Given the description of an element on the screen output the (x, y) to click on. 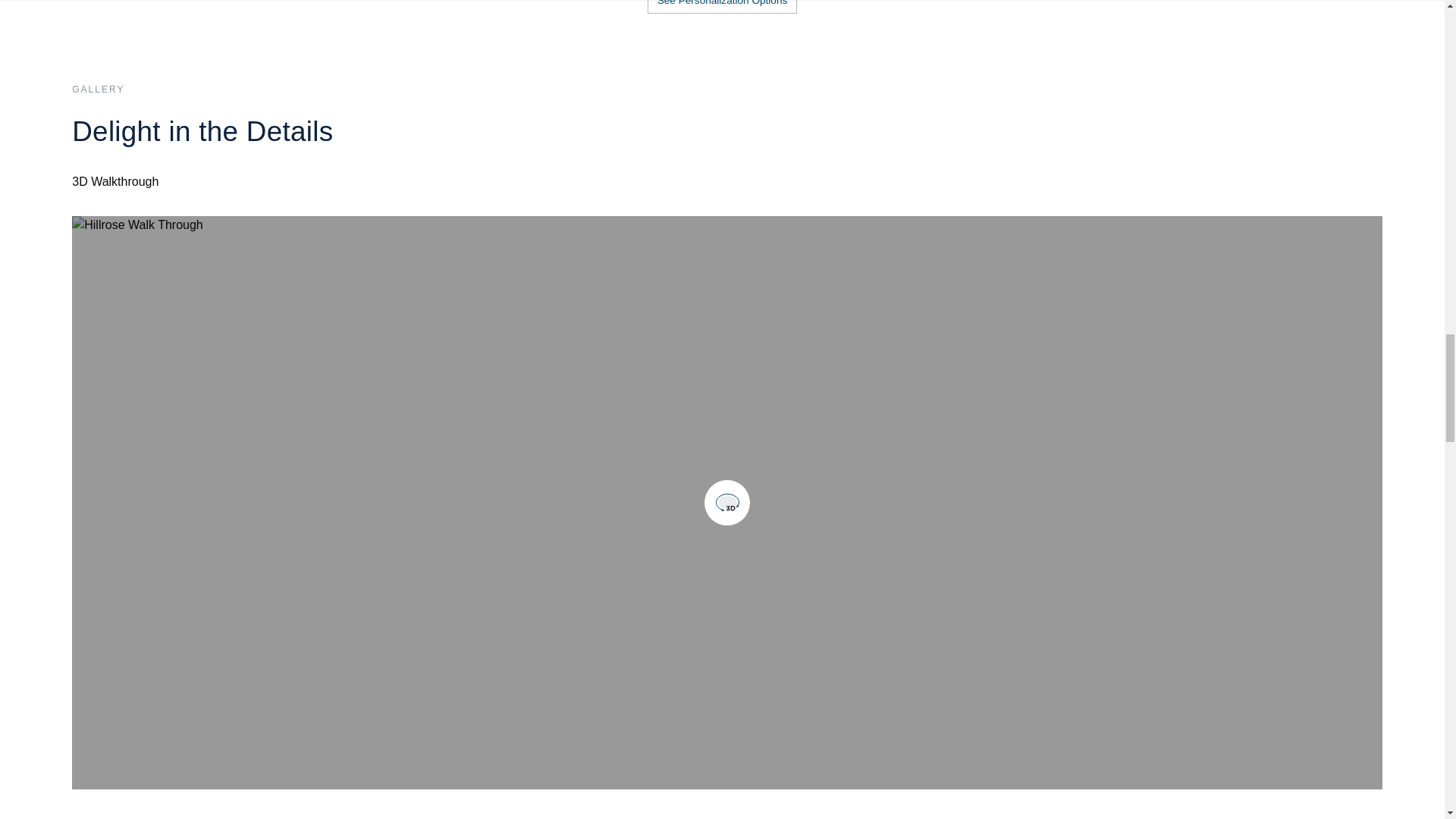
See Personalization Options (722, 6)
See Personalization Options (722, 22)
